Given the description of an element on the screen output the (x, y) to click on. 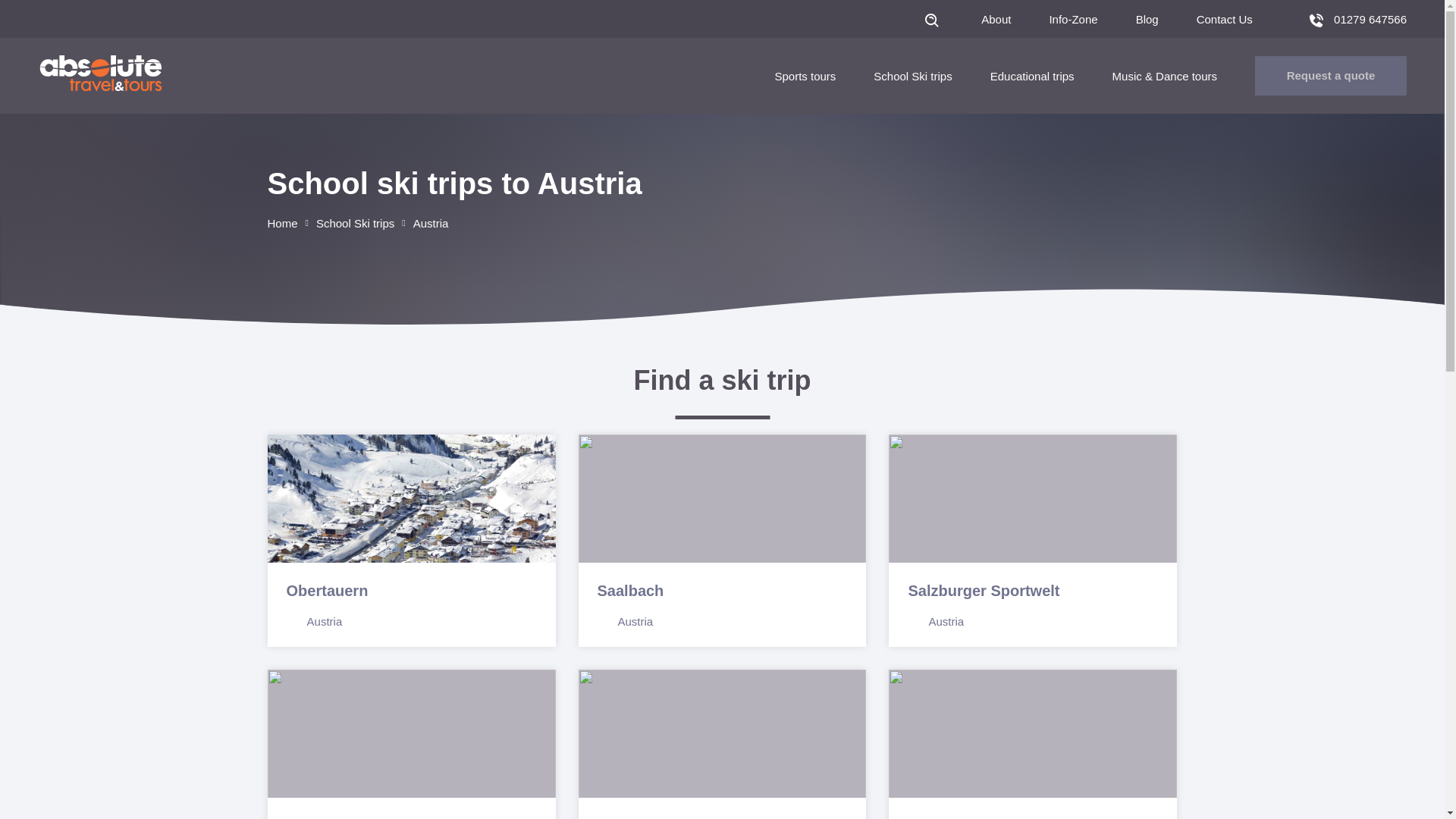
Blog (1146, 18)
Contact Us (1224, 18)
School Ski trips (912, 75)
About (995, 18)
01279 647566 (1357, 18)
Info-Zone (1072, 18)
